Given the description of an element on the screen output the (x, y) to click on. 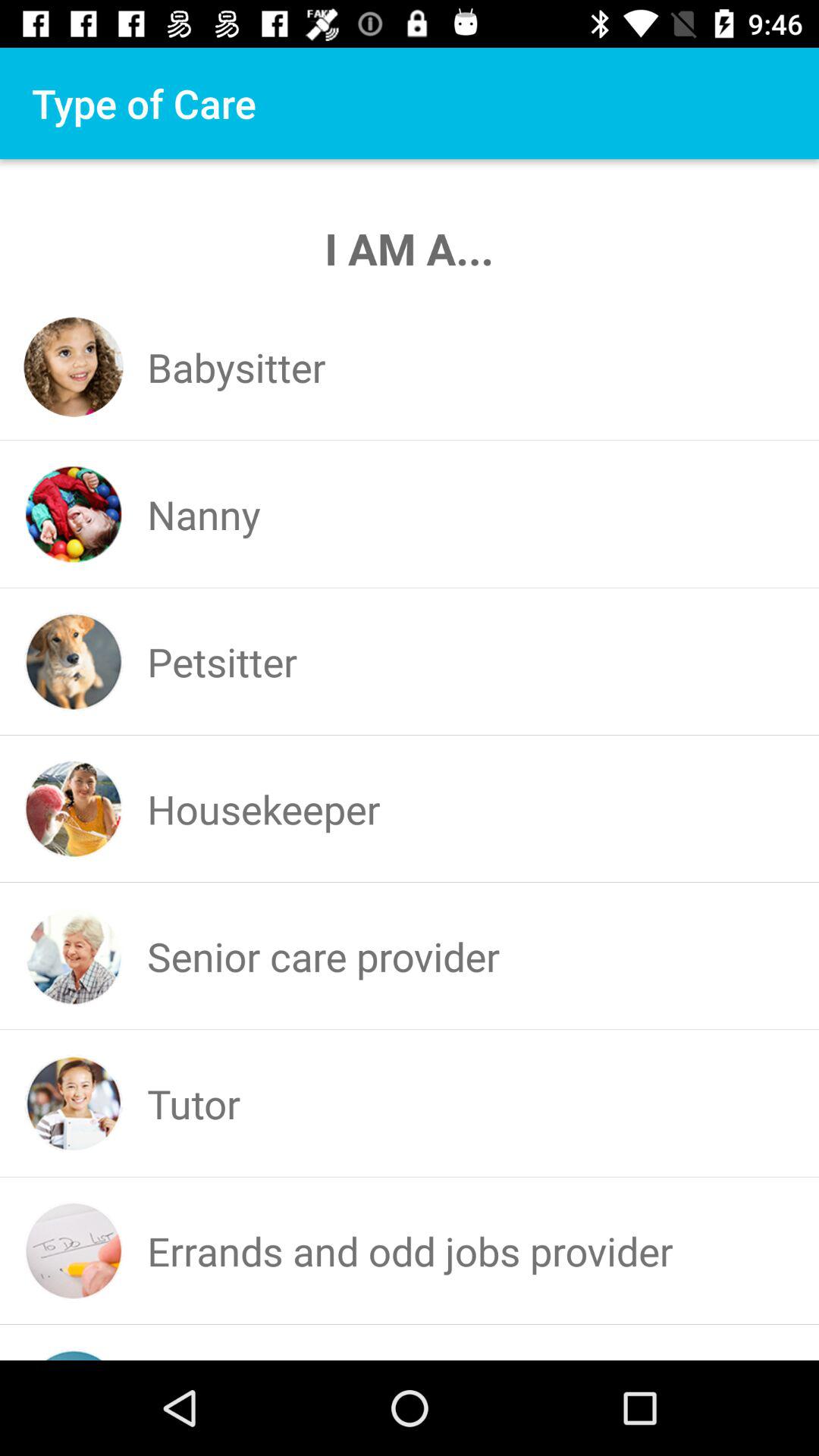
launch app below the housekeeper (323, 955)
